Given the description of an element on the screen output the (x, y) to click on. 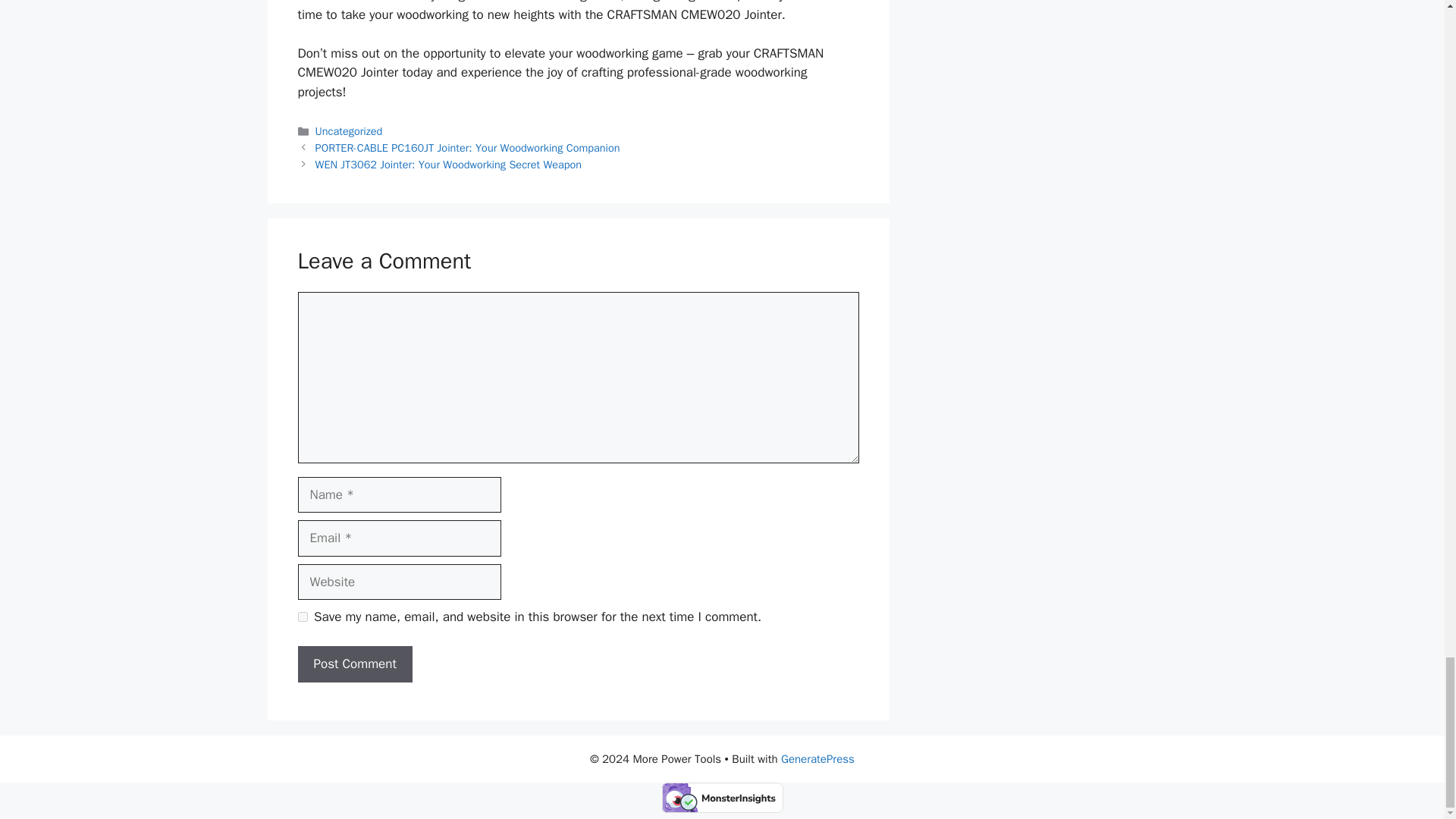
Verified by MonsterInsights (722, 797)
yes (302, 616)
Post Comment (354, 664)
